Given the description of an element on the screen output the (x, y) to click on. 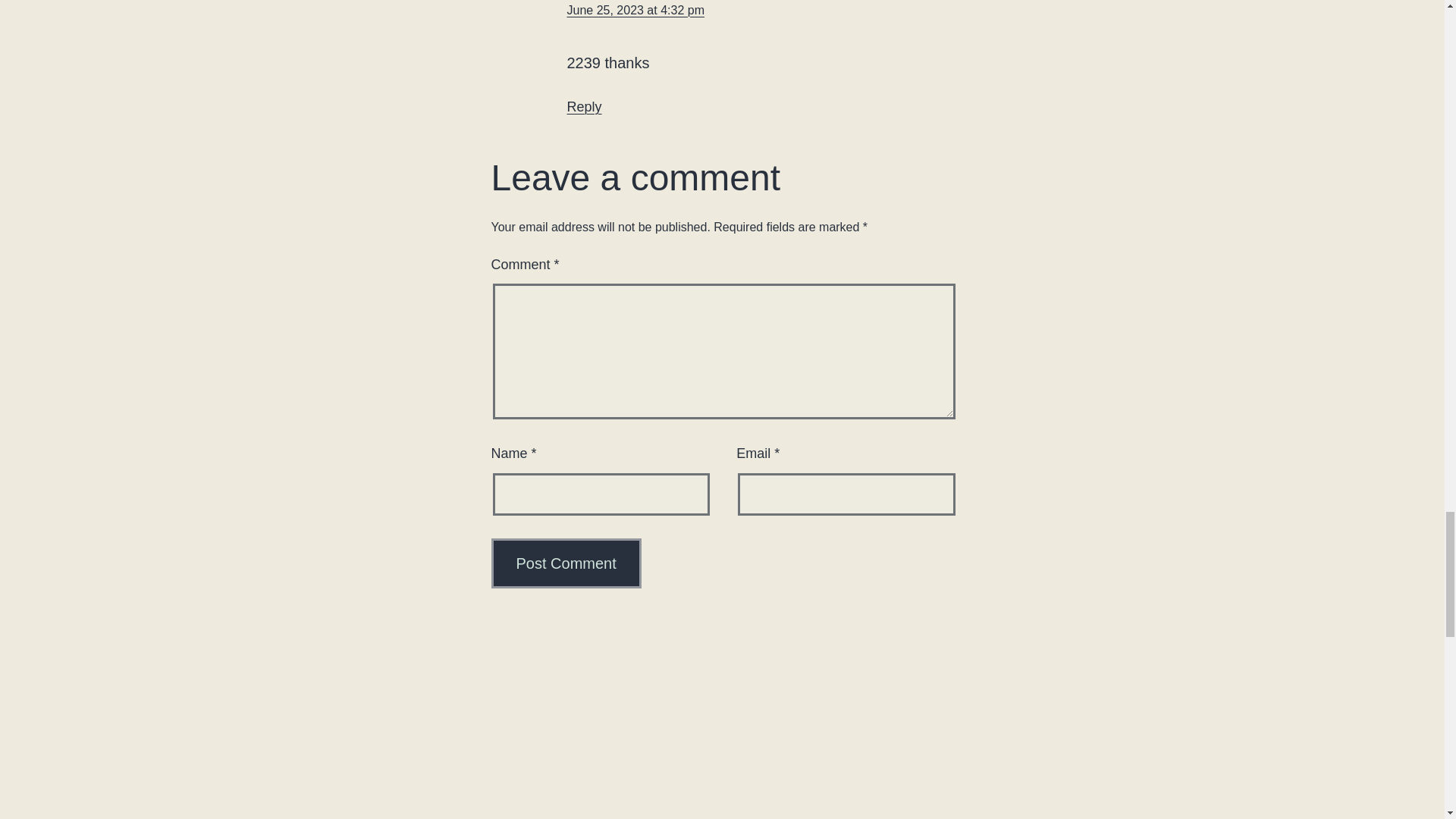
Post Comment (567, 563)
Reply (584, 106)
June 25, 2023 at 4:32 pm (635, 9)
